Given the description of an element on the screen output the (x, y) to click on. 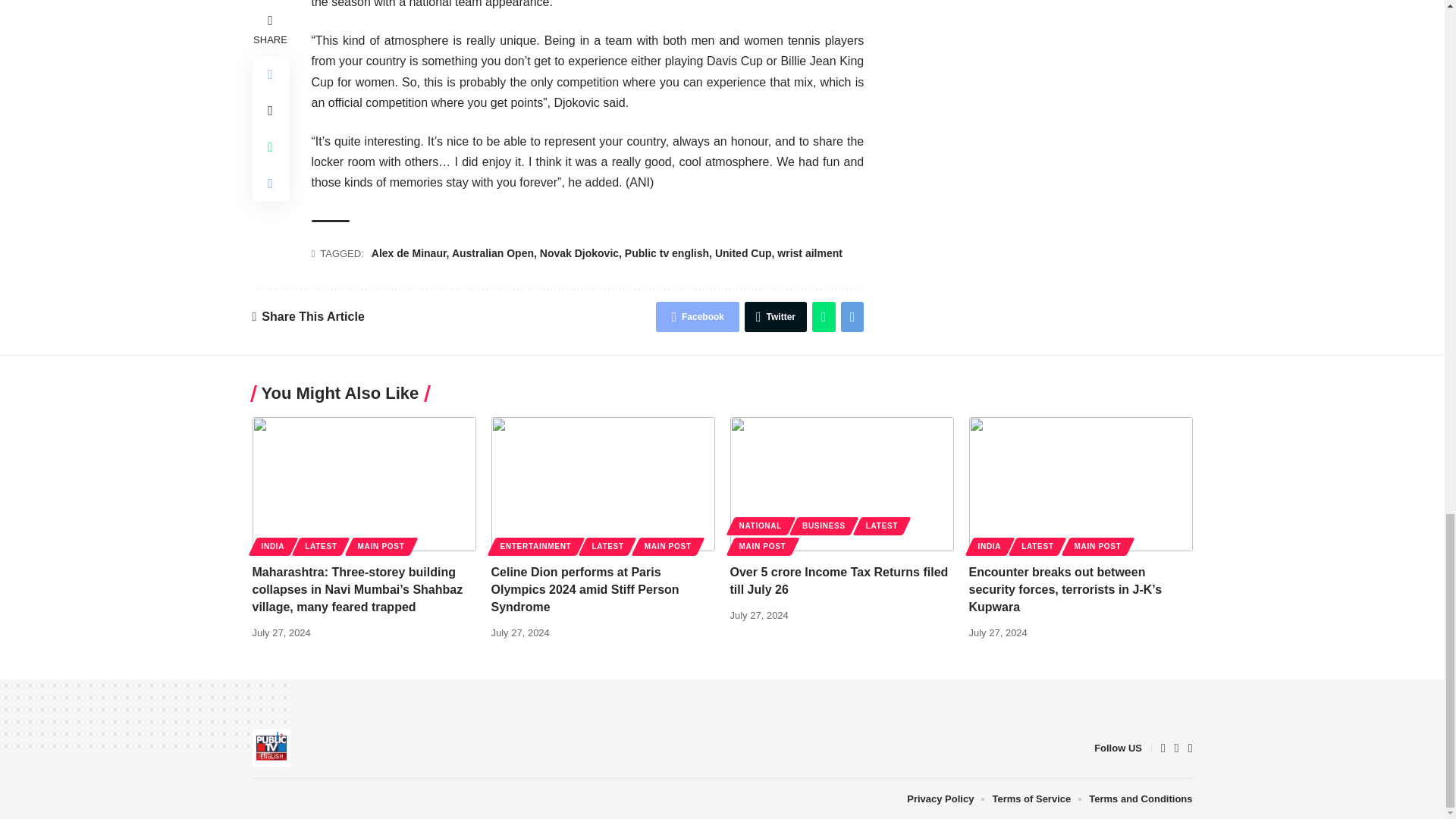
Public TV English (270, 747)
Over 5 crore Income Tax Returns filed till July 26 (841, 483)
